Given the description of an element on the screen output the (x, y) to click on. 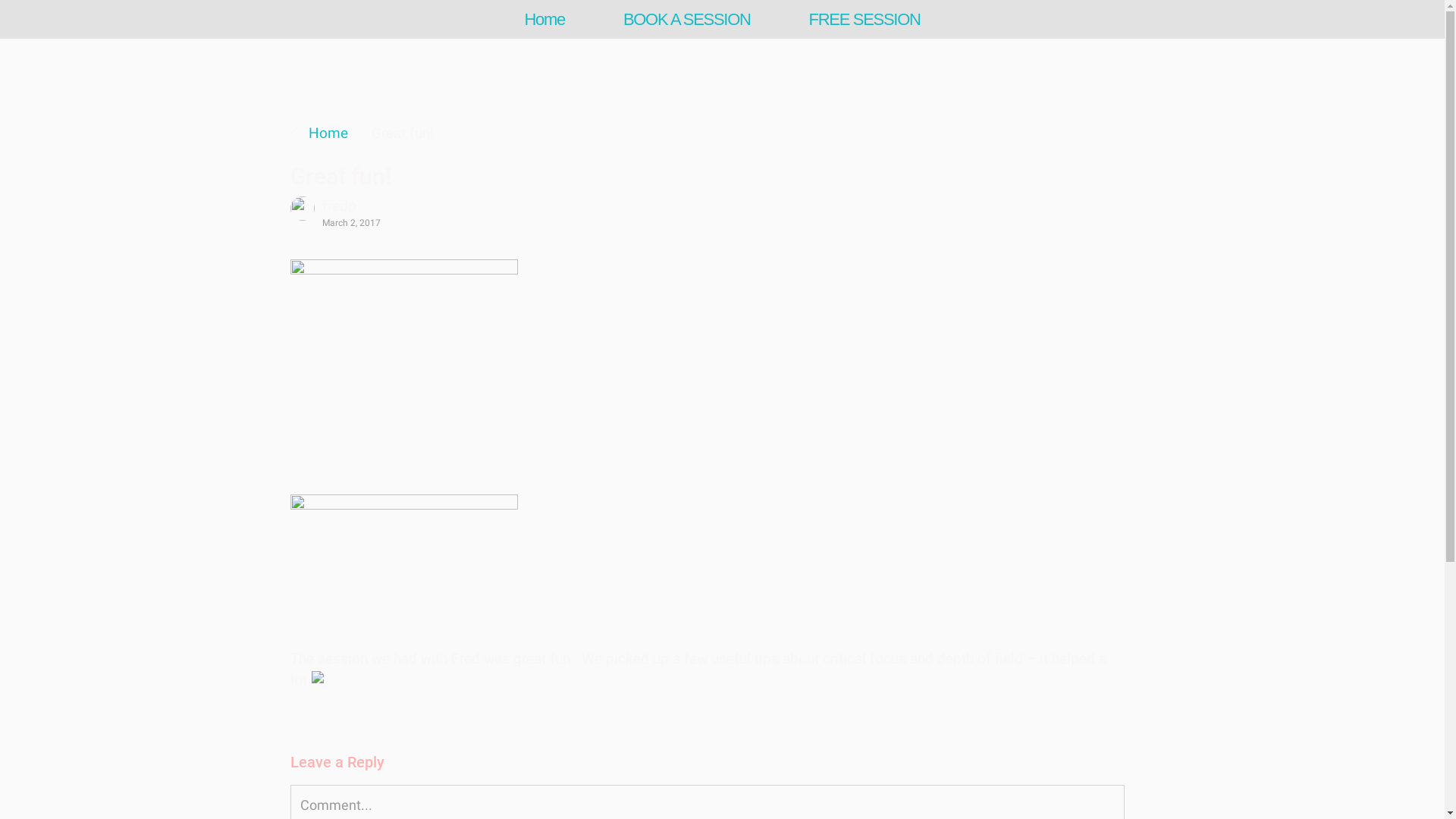
FREE SESSION Element type: text (864, 19)
Home Element type: text (328, 132)
Home Element type: text (544, 19)
BOOK A SESSION Element type: text (686, 19)
